Given the description of an element on the screen output the (x, y) to click on. 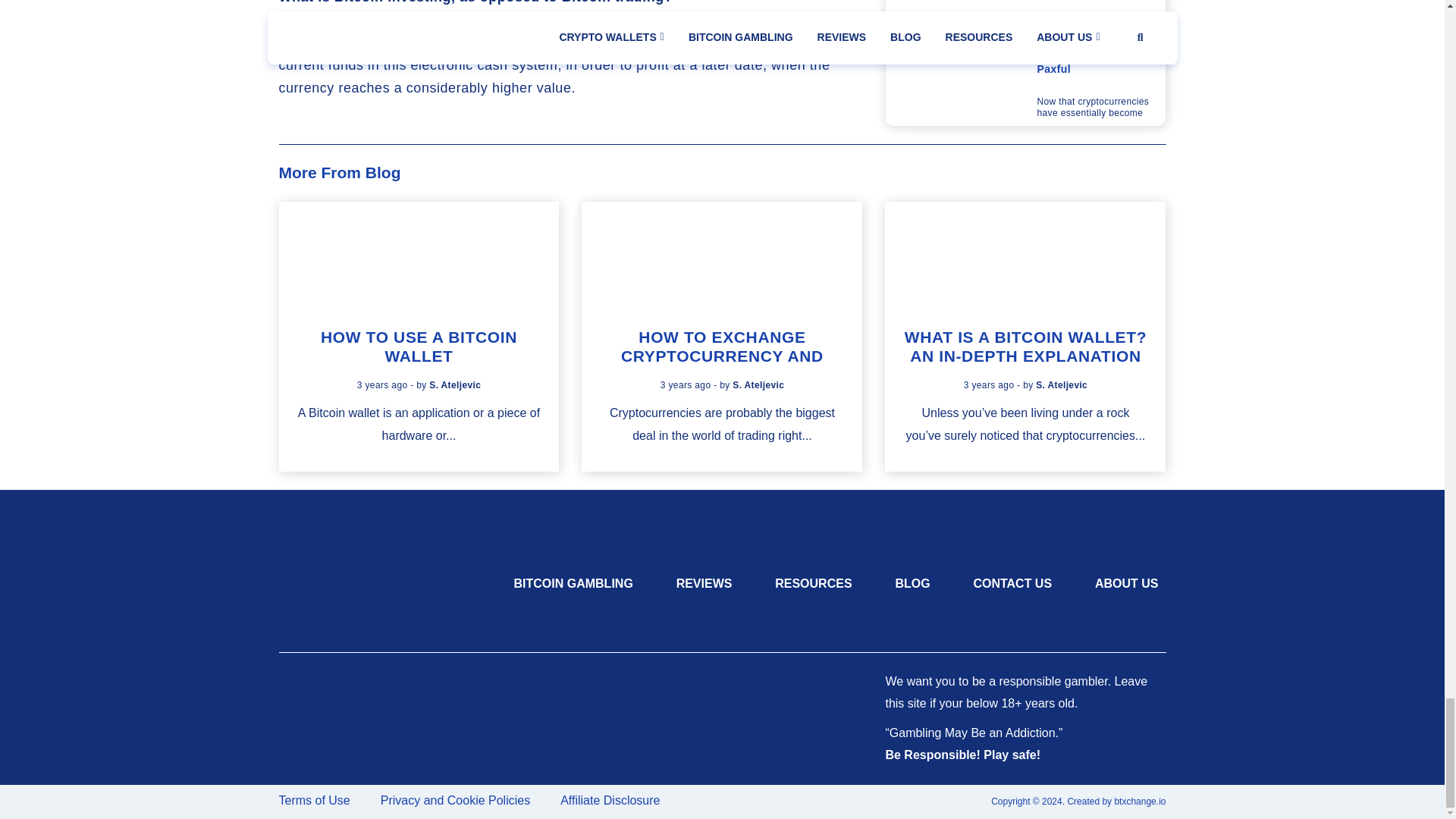
RESOURCES (812, 582)
REVIEWS (704, 582)
S. Ateljevic (1061, 385)
How To Exchange Cryptocurrency and Start Trading (721, 256)
WHAT IS A BITCOIN WALLET? AN IN-DEPTH EXPLANATION (1025, 346)
S. Ateljevic (454, 385)
BLOG (912, 582)
HOW TO USE A BITCOIN WALLET (418, 346)
How To Exchange Cryptocurrency and Start Trading (722, 356)
S. Ateljevic (758, 385)
